Given the description of an element on the screen output the (x, y) to click on. 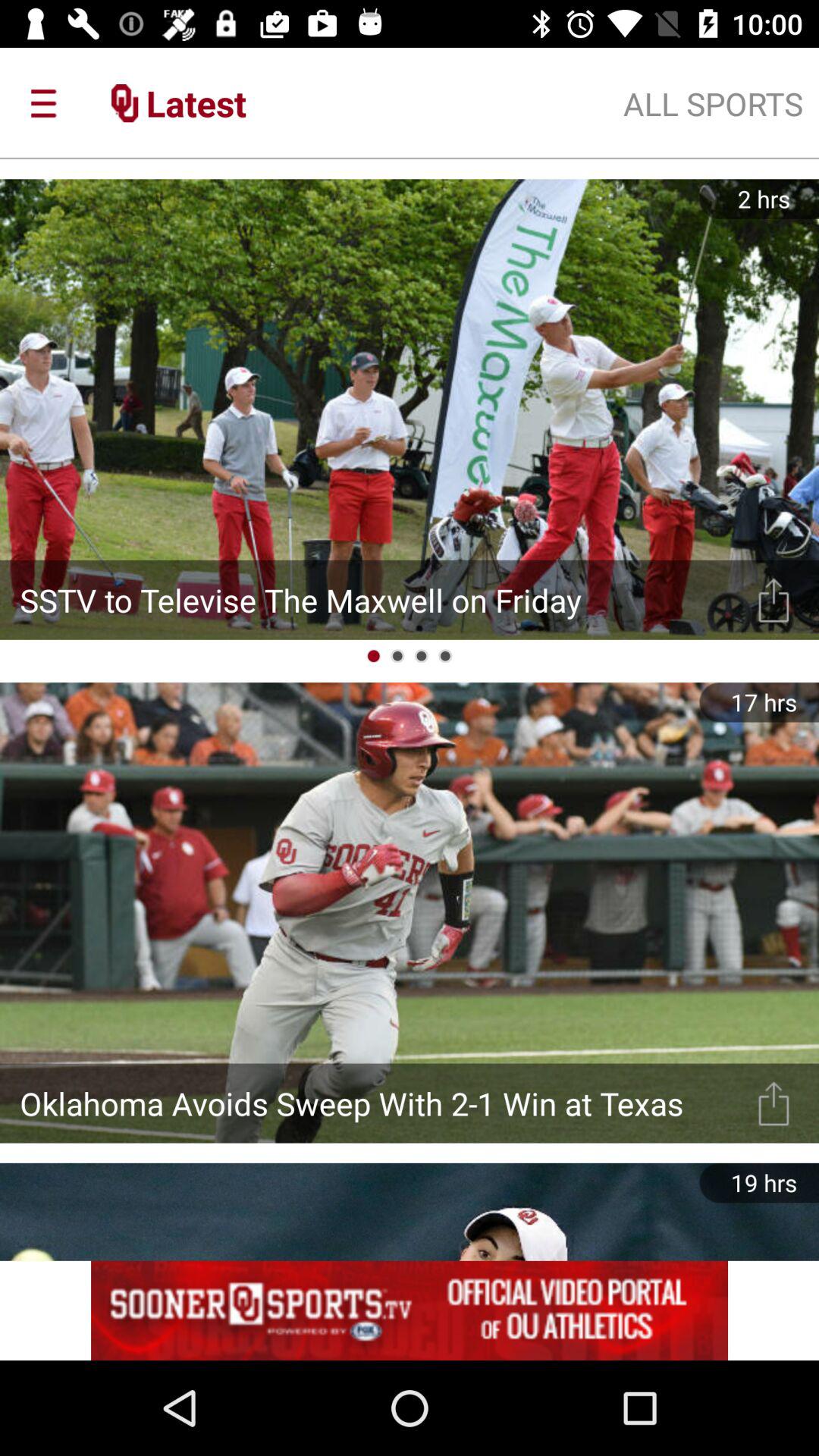
show options (773, 599)
